Given the description of an element on the screen output the (x, y) to click on. 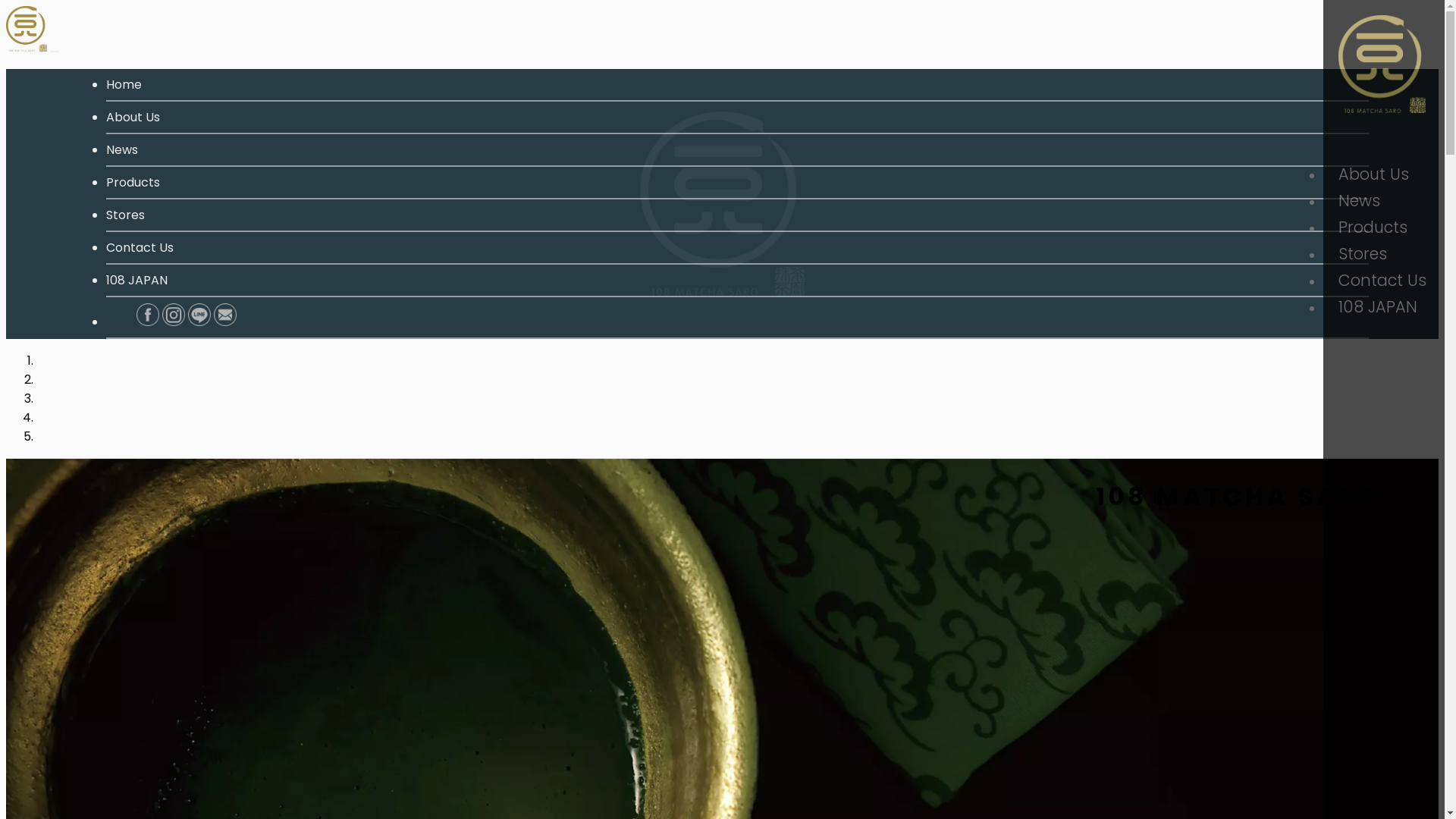
News Element type: text (122, 149)
Home Element type: text (123, 84)
About Us Element type: text (133, 116)
Stores Element type: text (125, 214)
Stores Element type: text (1383, 253)
About Us Element type: text (1383, 173)
Products Element type: text (133, 182)
108 JAPAN Element type: text (1383, 306)
News Element type: text (1383, 200)
108 JAPAN Element type: text (136, 279)
Contact Us Element type: text (139, 247)
Products Element type: text (1383, 226)
Contact Us Element type: text (1383, 279)
